Given the description of an element on the screen output the (x, y) to click on. 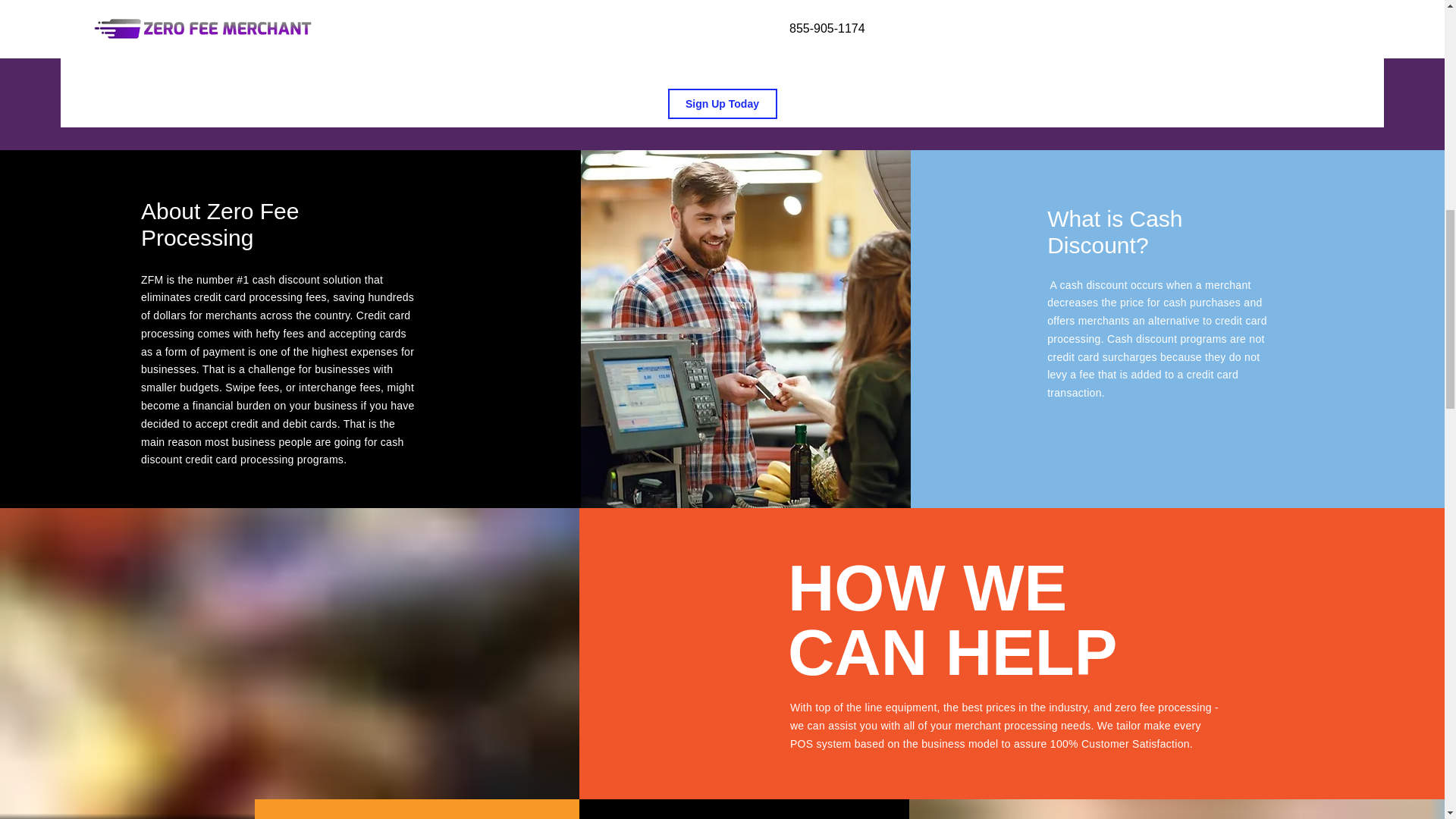
Sign Up Today (721, 103)
